Given the description of an element on the screen output the (x, y) to click on. 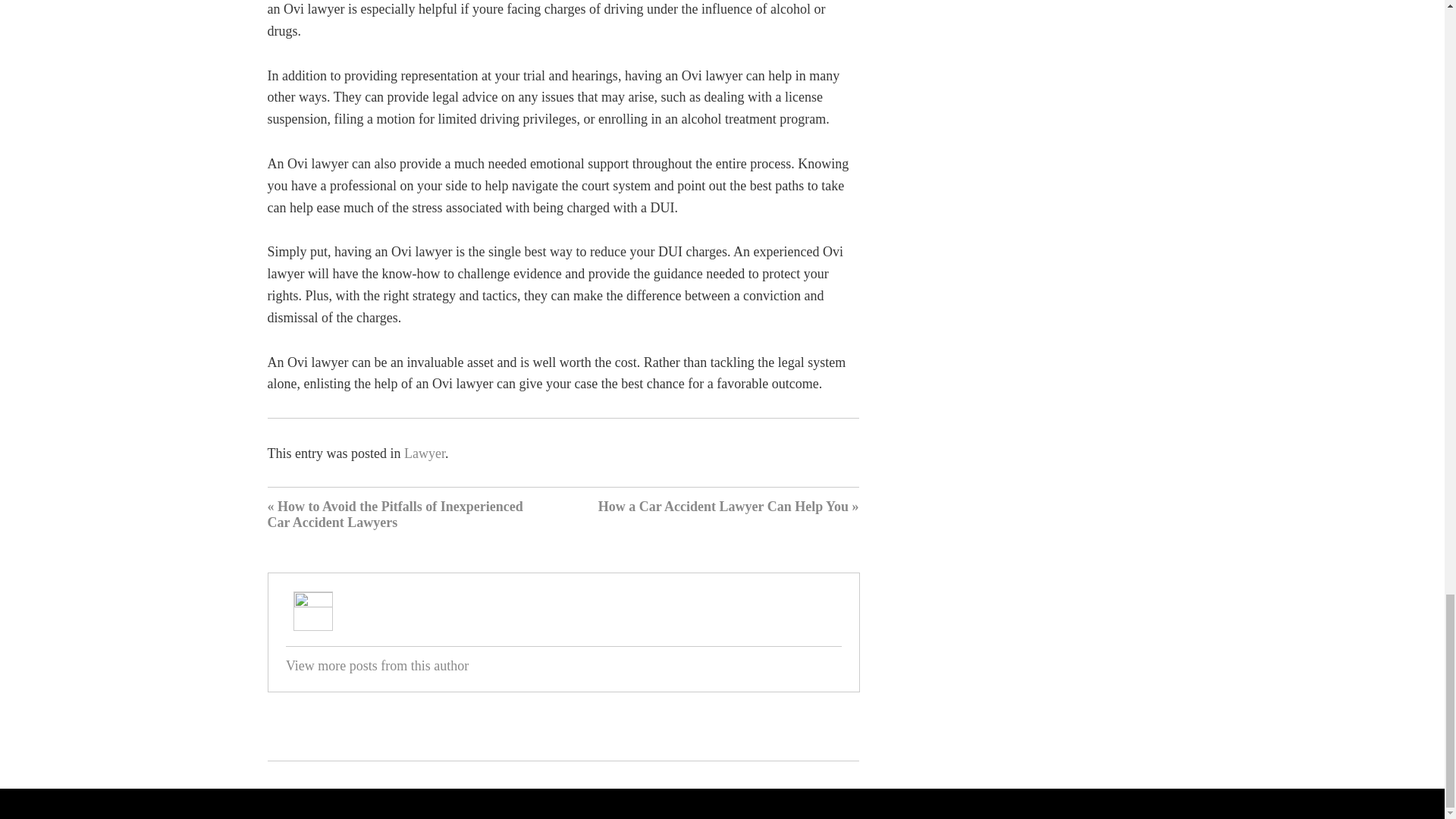
Lawyer (424, 453)
